Given the description of an element on the screen output the (x, y) to click on. 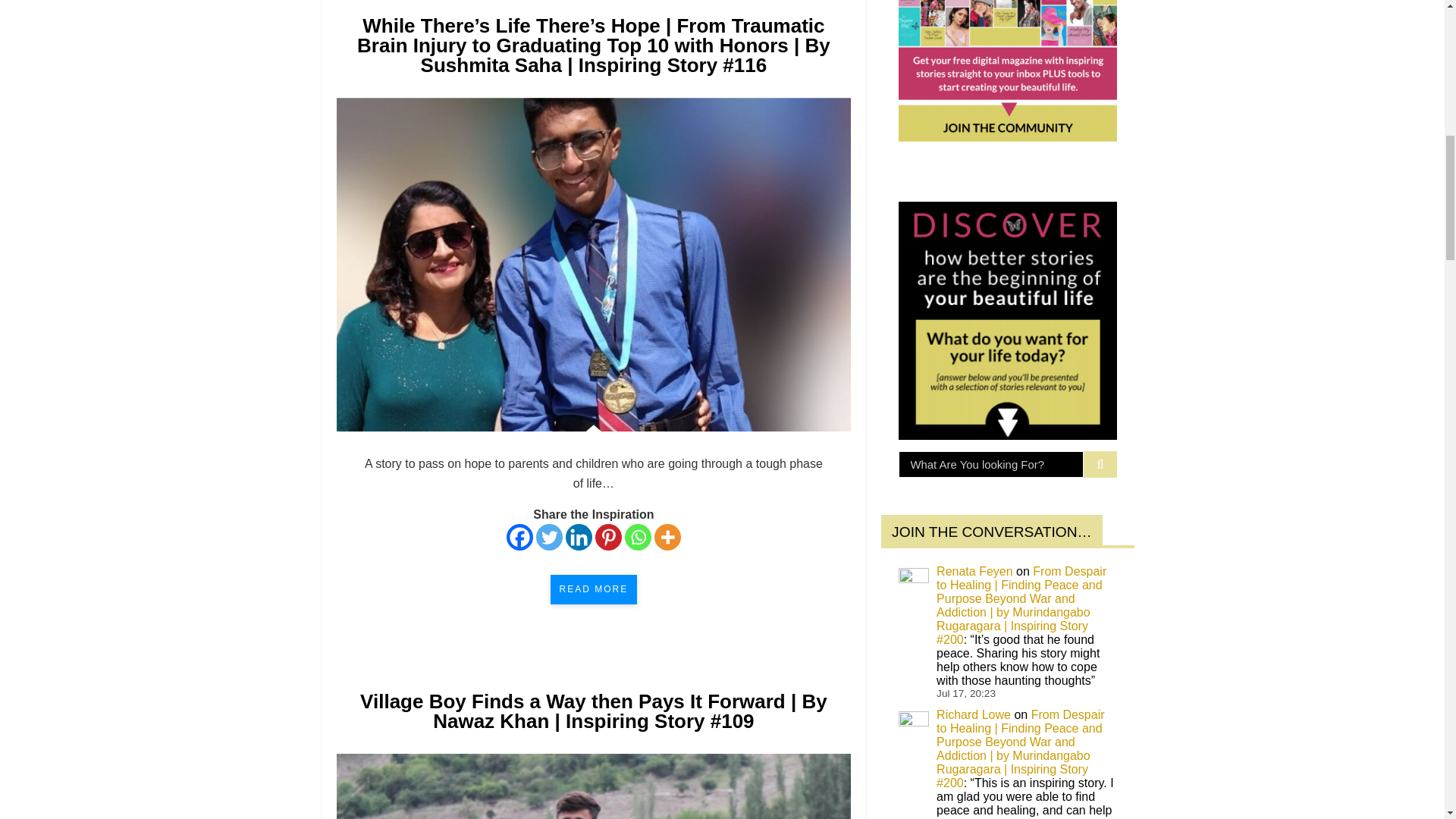
Pinterest (608, 537)
Facebook (519, 537)
More (667, 537)
READ MORE (593, 588)
Whatsapp (637, 537)
Linkedin (579, 537)
Twitter (548, 537)
